Given the description of an element on the screen output the (x, y) to click on. 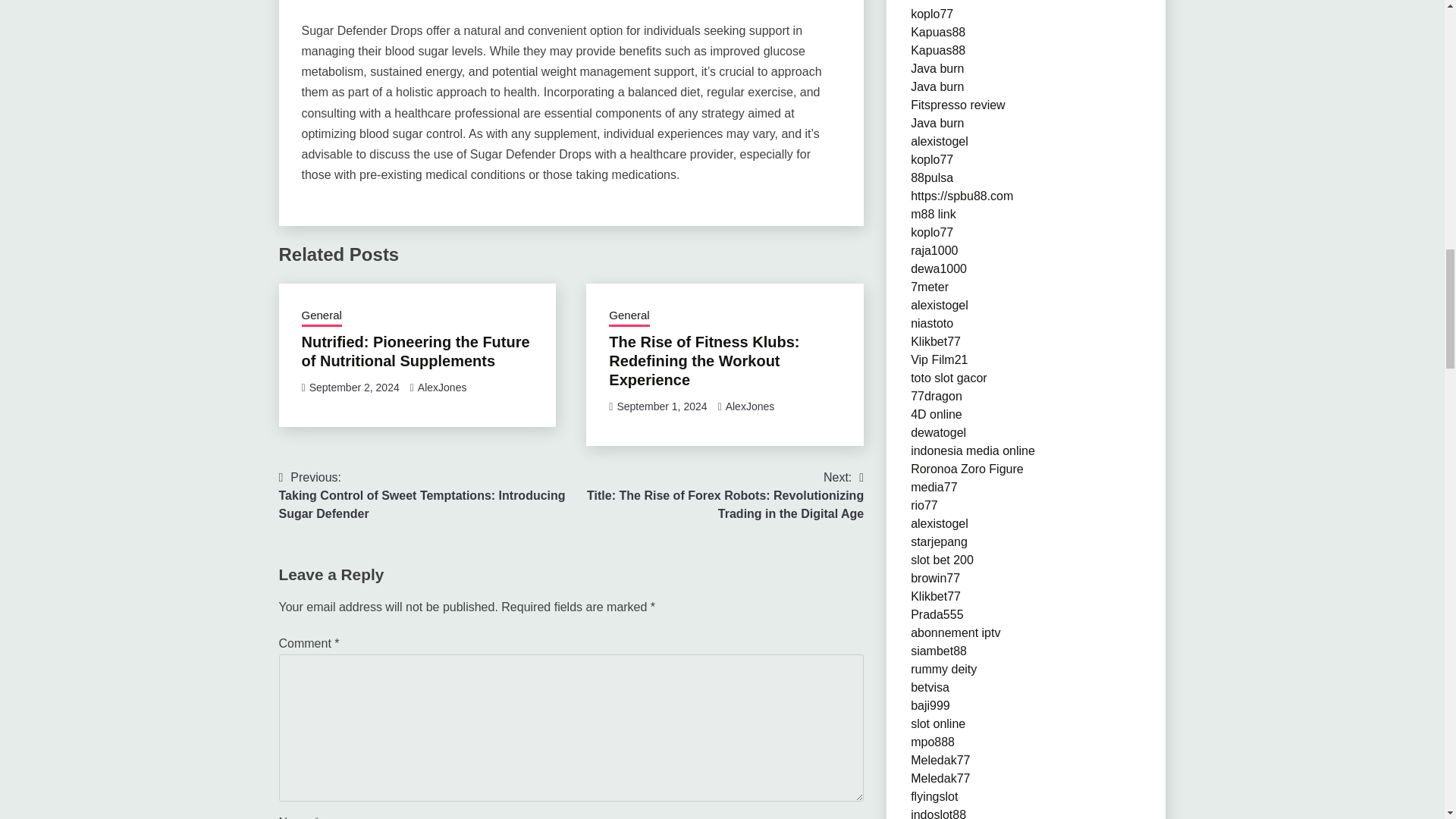
General (321, 316)
September 1, 2024 (660, 406)
AlexJones (442, 387)
September 2, 2024 (353, 387)
General (628, 316)
AlexJones (749, 406)
The Rise of Fitness Klubs: Redefining the Workout Experience (703, 360)
Nutrified: Pioneering the Future of Nutritional Supplements (415, 351)
